Given the description of an element on the screen output the (x, y) to click on. 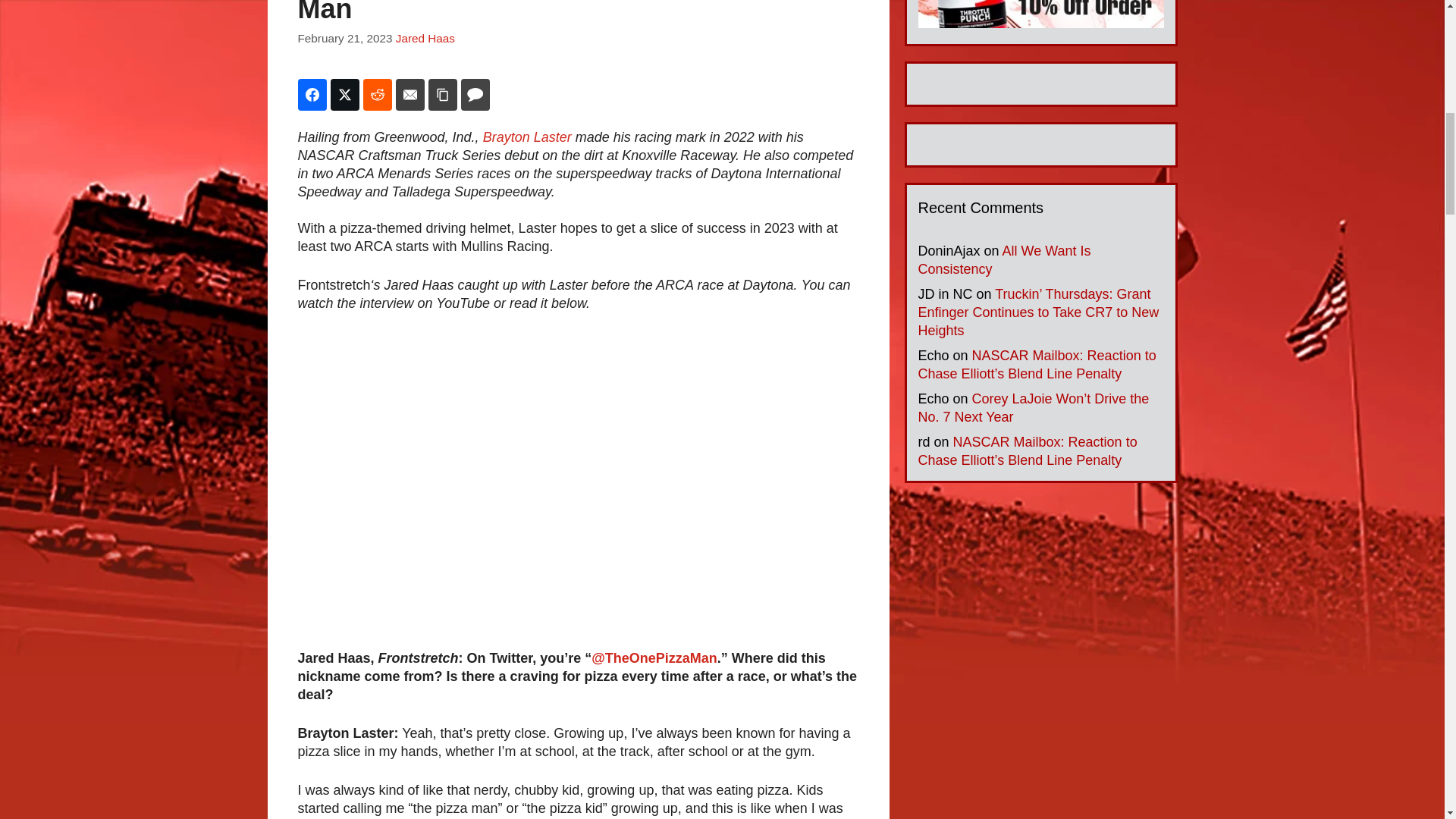
Jared Haas (425, 38)
Brayton Laster (527, 136)
Share on Copy Link (442, 94)
Share on Comments (475, 94)
Share on Facebook (311, 94)
Share on Email (410, 94)
Share on Reddit (376, 94)
Share on Twitter (344, 94)
